Given the description of an element on the screen output the (x, y) to click on. 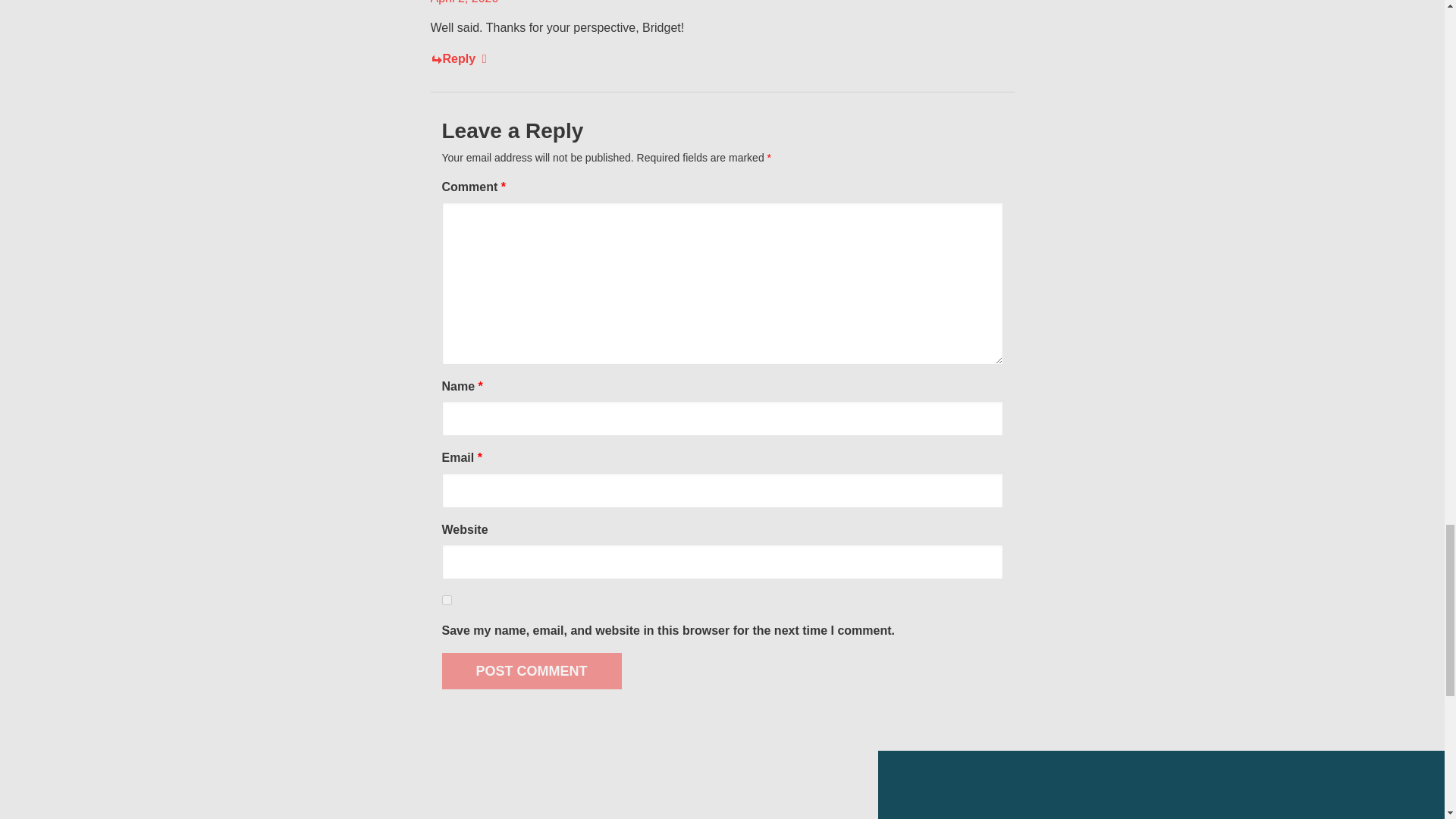
yes (446, 600)
Post Comment (531, 670)
Post Comment (531, 670)
Reply (458, 58)
April 2, 2020 (464, 2)
